Given the description of an element on the screen output the (x, y) to click on. 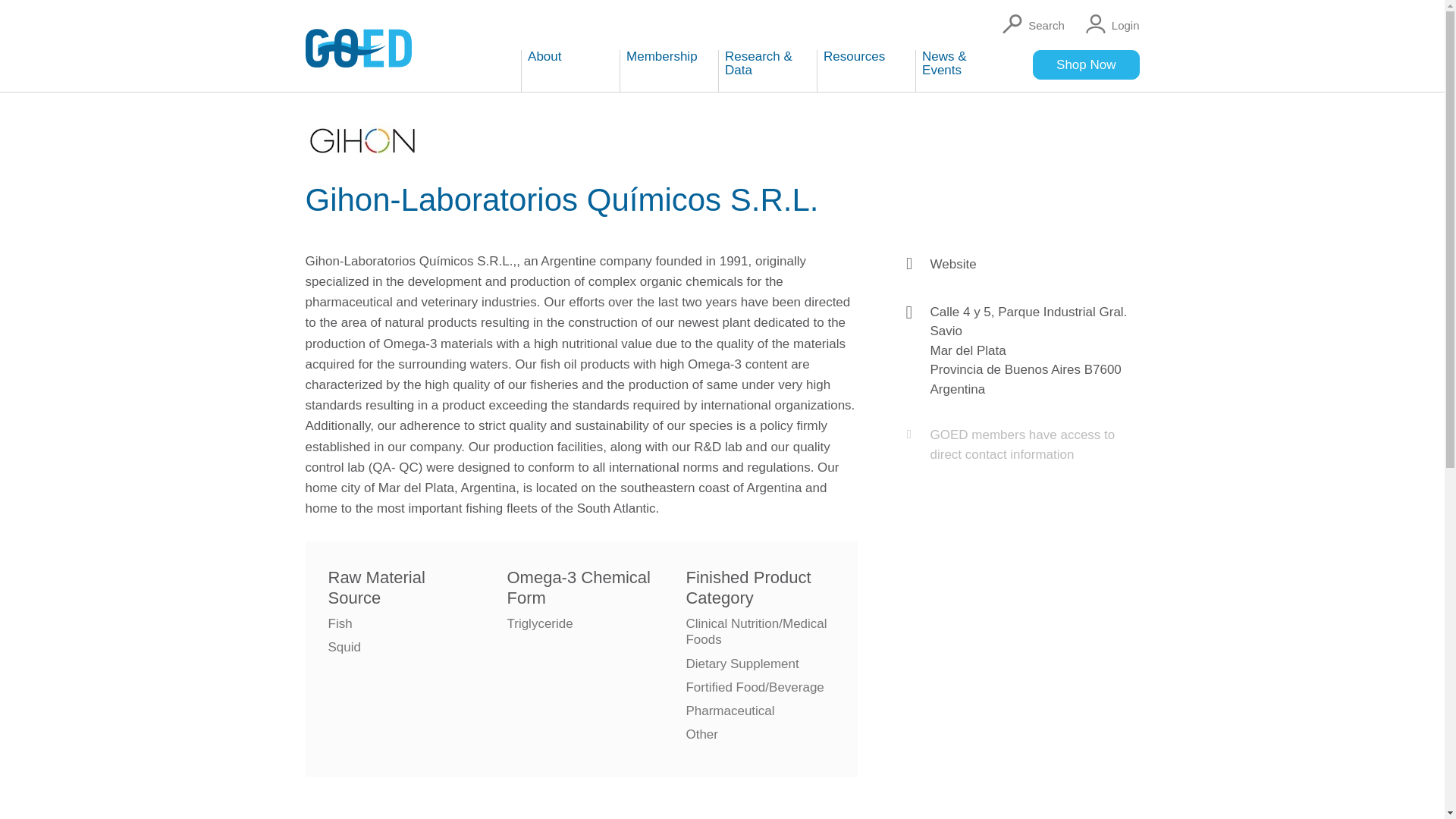
Search (1029, 24)
Account (1110, 24)
Login (1110, 24)
Search (1029, 24)
Shop Now (1085, 64)
Website (952, 264)
